Given the description of an element on the screen output the (x, y) to click on. 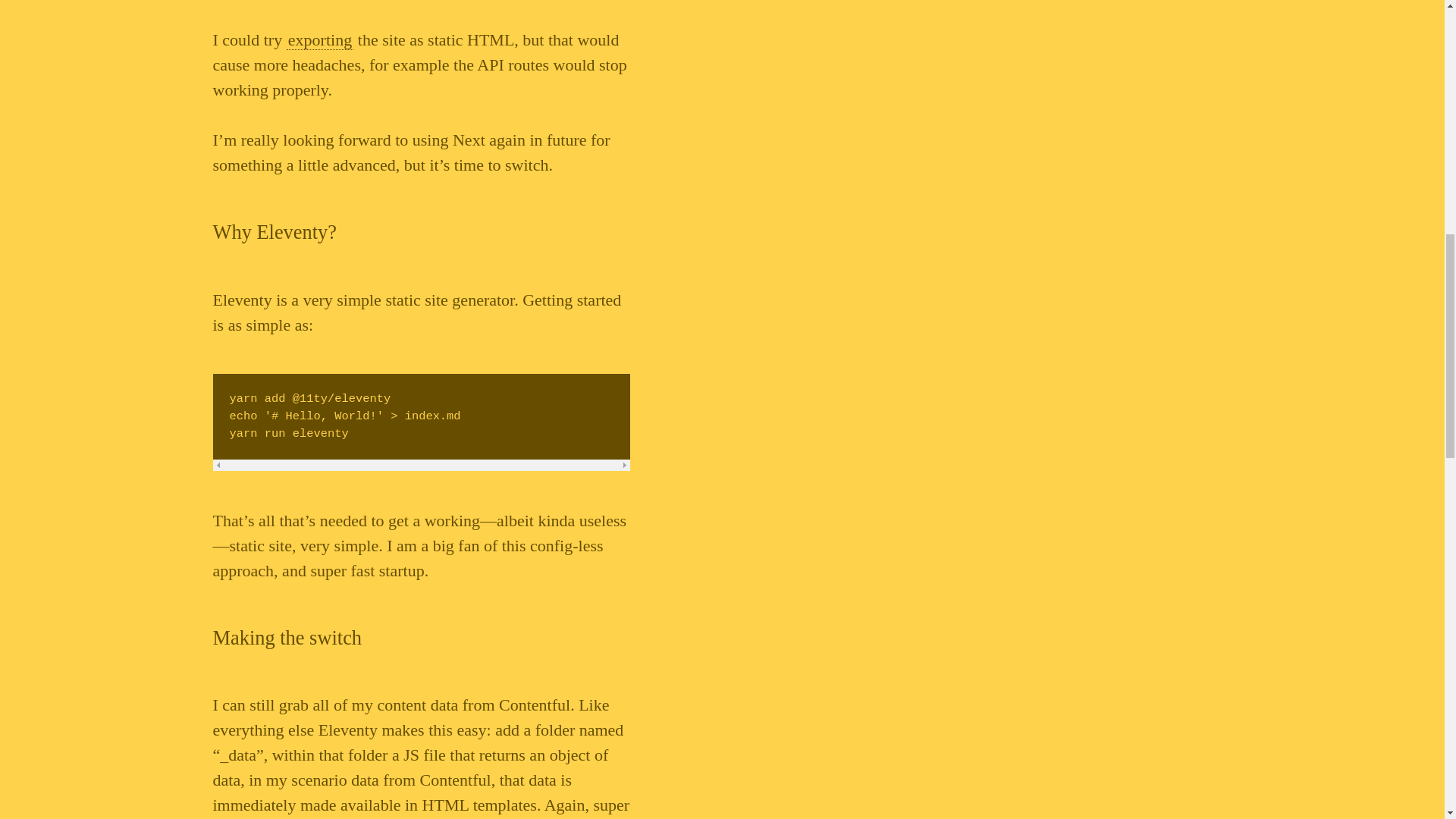
exporting (319, 39)
